Given the description of an element on the screen output the (x, y) to click on. 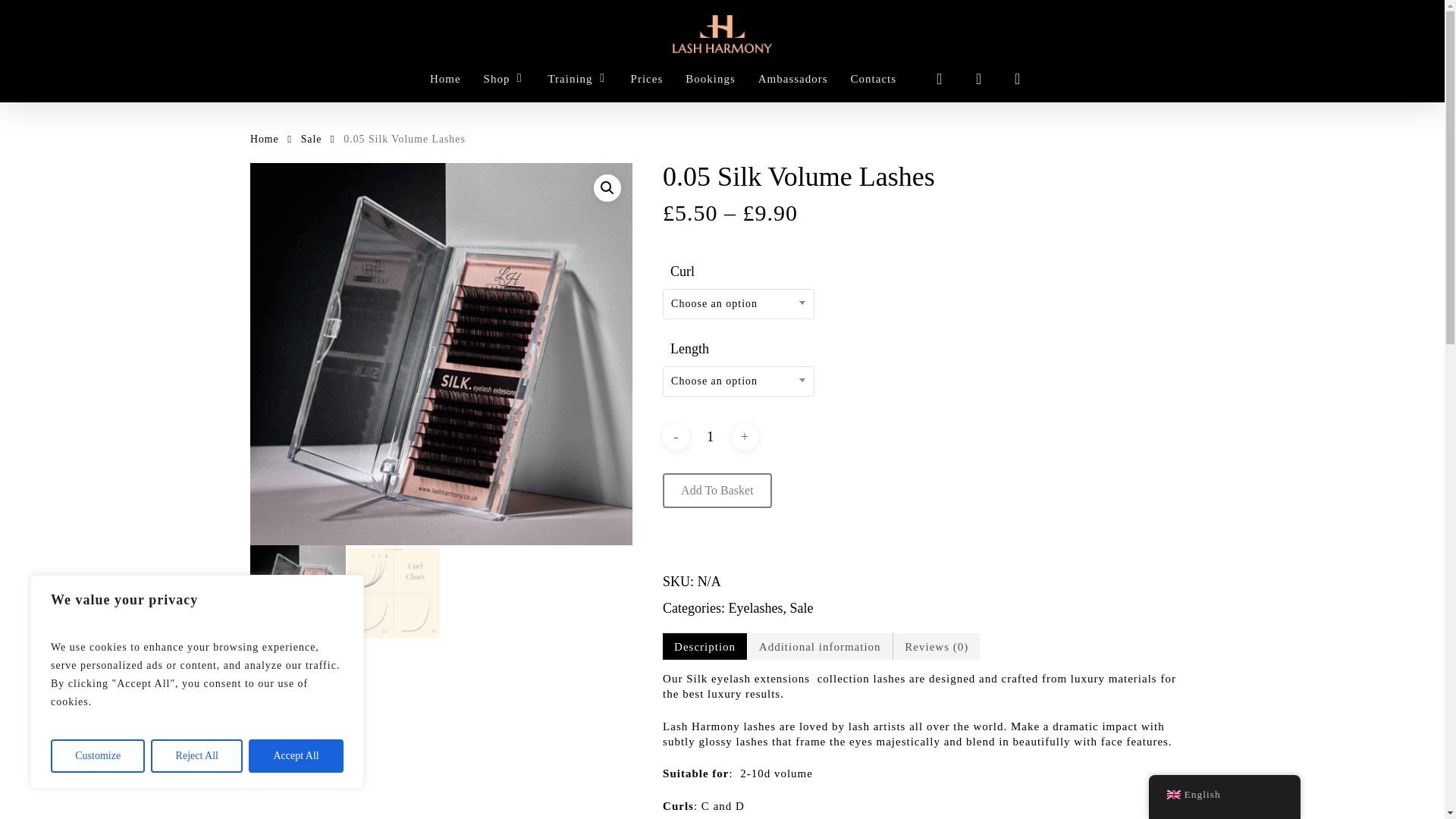
Bookings (710, 78)
1 (710, 437)
Ambassadors (793, 78)
Accept All (295, 756)
English (1172, 794)
Contacts (873, 78)
Reject All (197, 756)
Choose an option (738, 381)
Home (445, 78)
Shop (504, 78)
PayPal (927, 551)
Customize (97, 756)
search (939, 78)
- (675, 437)
Training (577, 78)
